Given the description of an element on the screen output the (x, y) to click on. 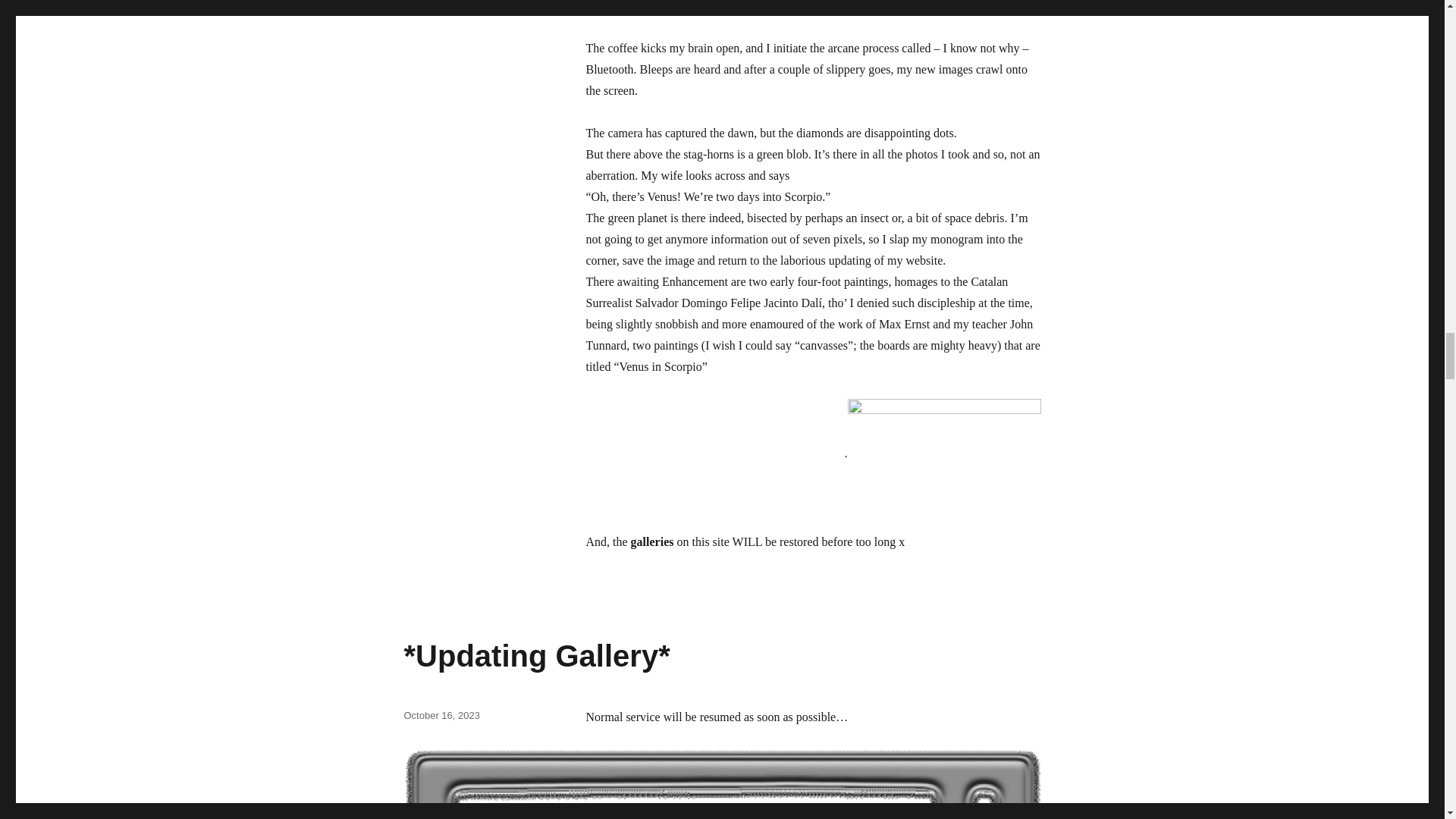
October 16, 2023 (441, 715)
